Given the description of an element on the screen output the (x, y) to click on. 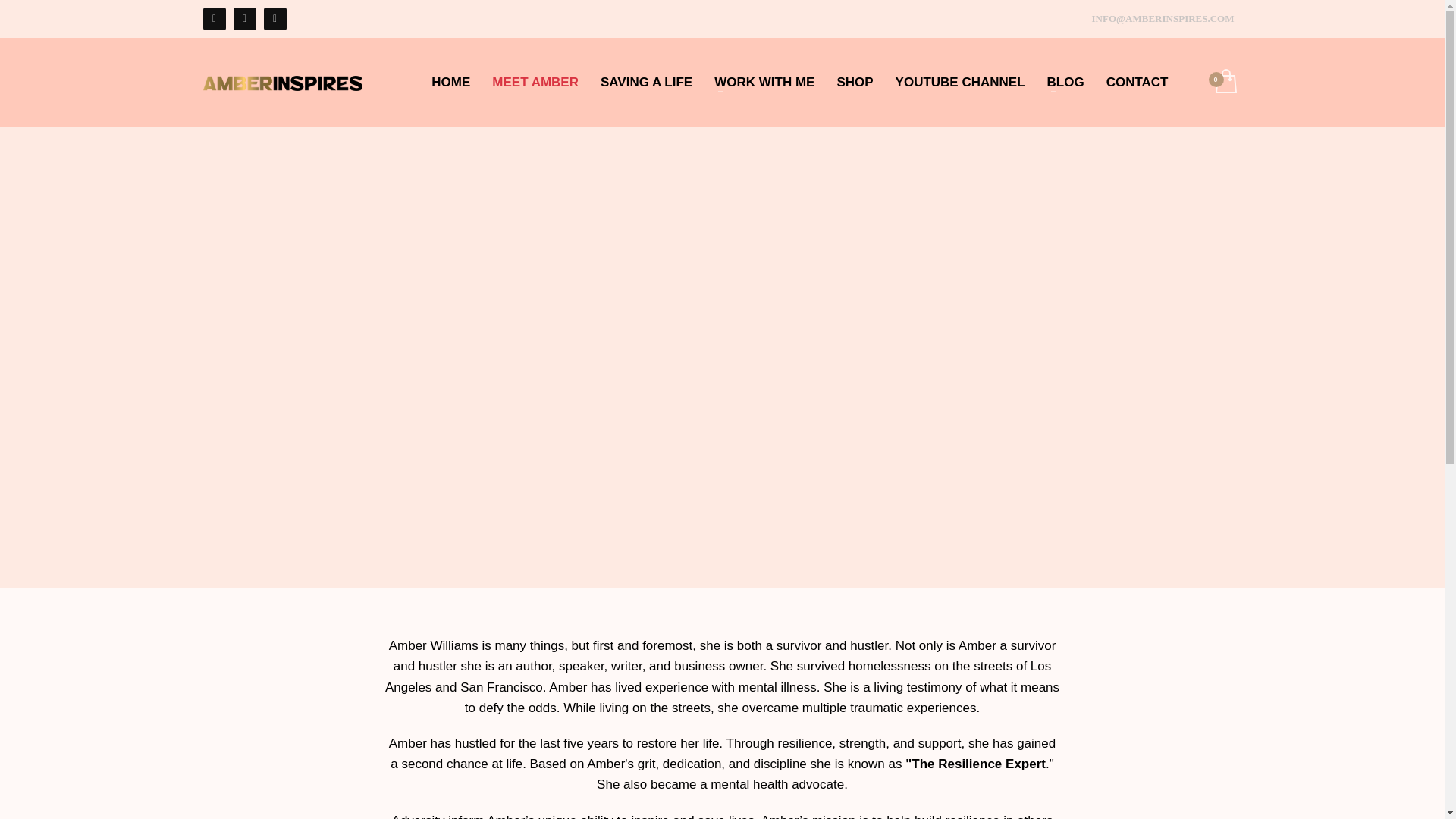
SHOP (854, 82)
View your shopping cart (1224, 82)
BLOG (1065, 82)
Twitter (244, 18)
Instagram (214, 18)
YOUTUBE CHANNEL (959, 82)
WORK WITH ME (764, 82)
SAVING A LIFE (646, 82)
CONTACT (1137, 82)
YouTube (274, 18)
HOME (450, 82)
MEET AMBER (535, 82)
